Given the description of an element on the screen output the (x, y) to click on. 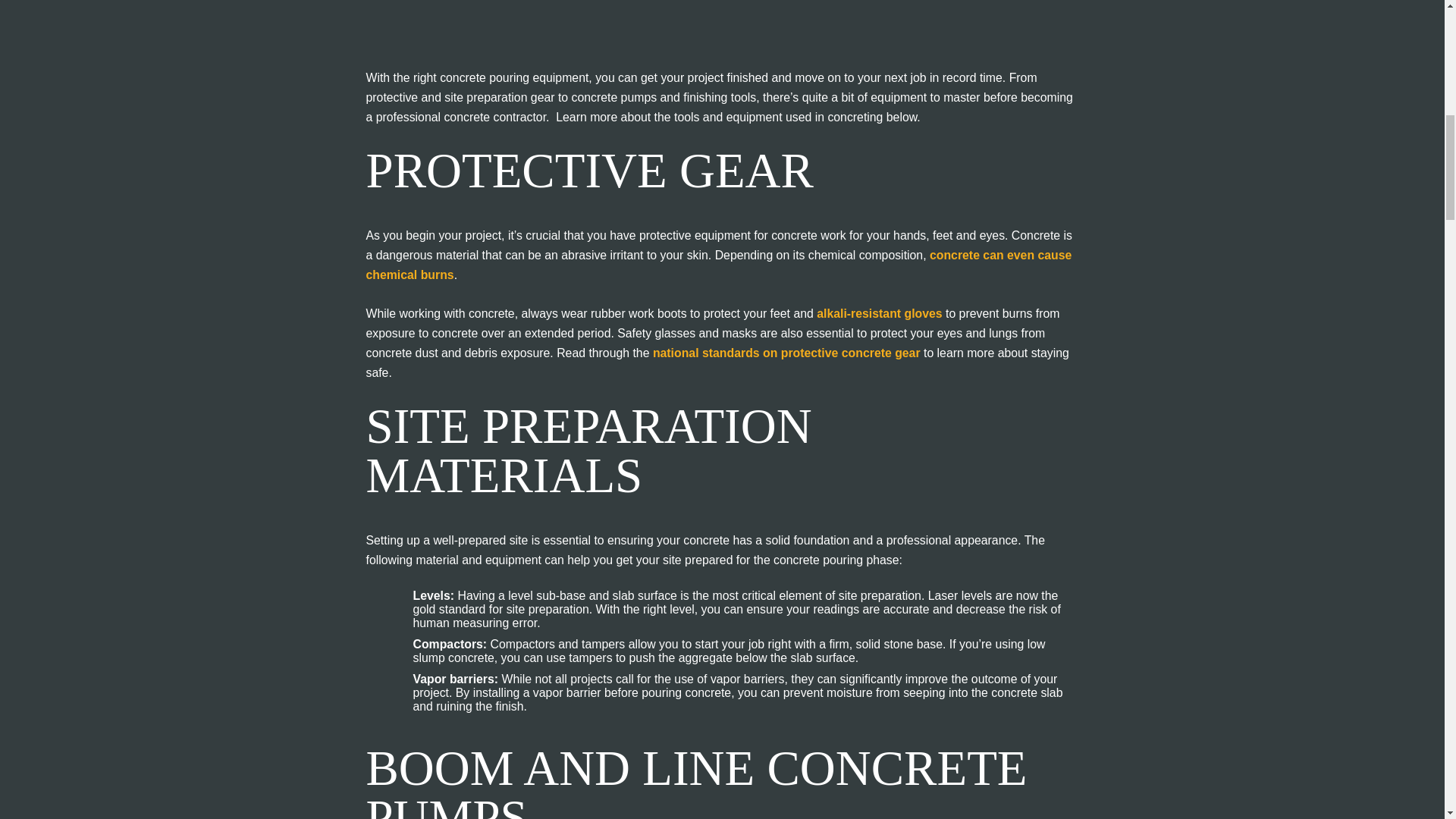
submit (1129, 346)
